Given the description of an element on the screen output the (x, y) to click on. 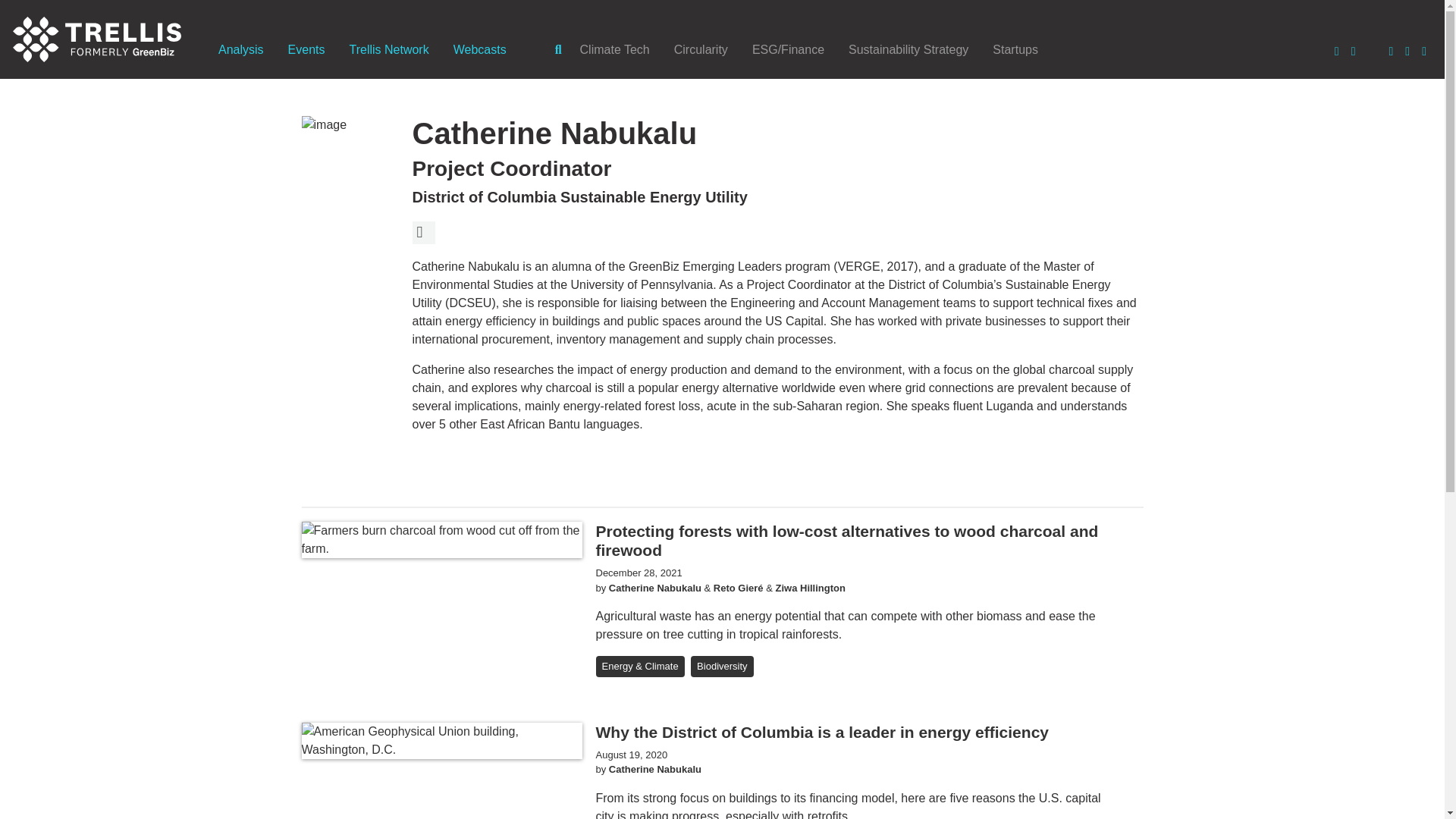
Catherine Nabukalu (654, 768)
Catherine Nabukalu (654, 587)
Catherine Nabukalu linkedin (423, 232)
Biodiversity (721, 666)
Webcasts (479, 49)
Circularity (700, 49)
Startups (1014, 49)
Climate Tech (614, 49)
